Given the description of an element on the screen output the (x, y) to click on. 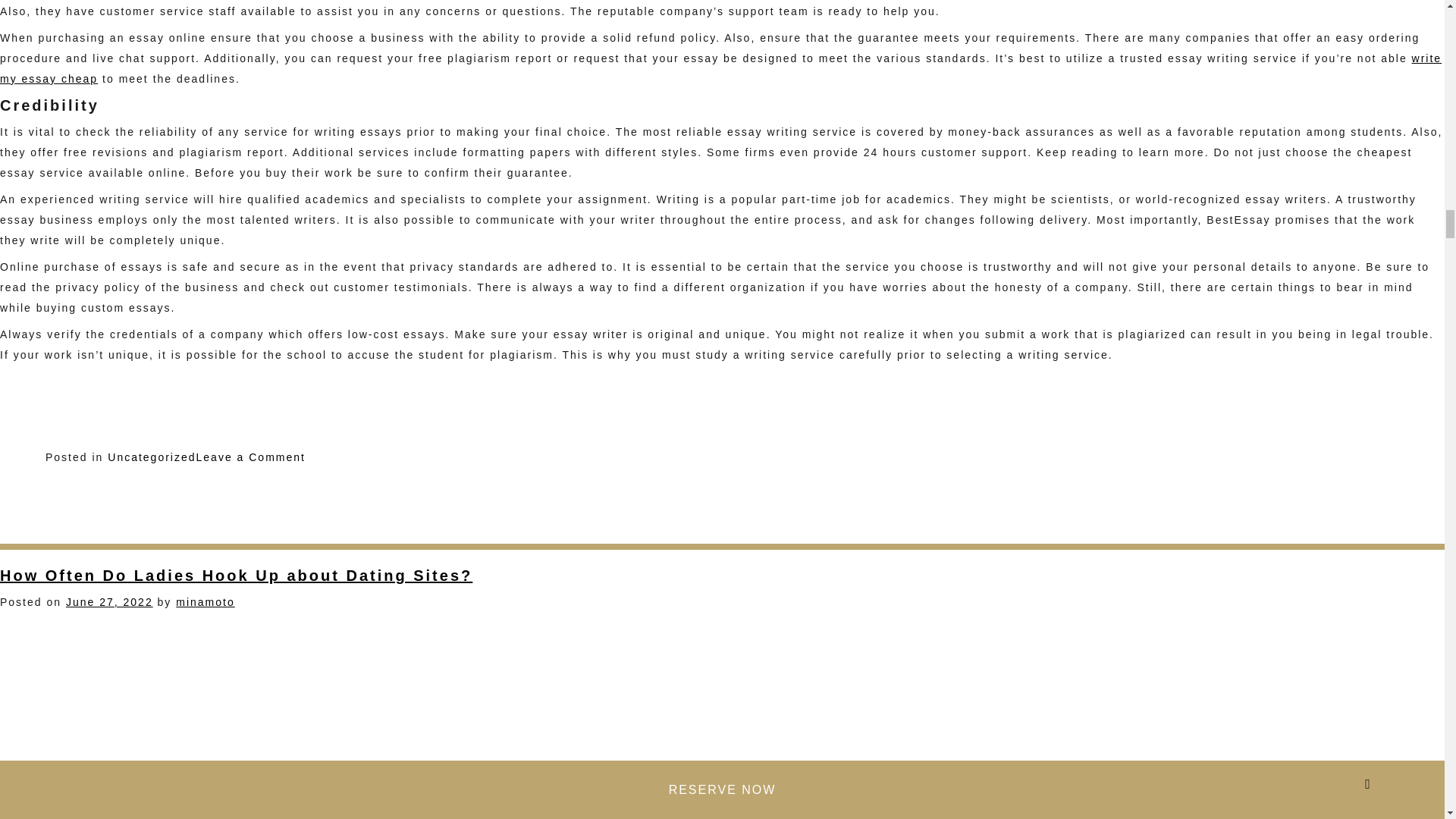
June 27, 2022 (250, 457)
write my essay cheap (108, 602)
Uncategorized (720, 68)
How Often Do Ladies Hook Up about Dating Sites? (151, 457)
minamoto (235, 575)
